Given the description of an element on the screen output the (x, y) to click on. 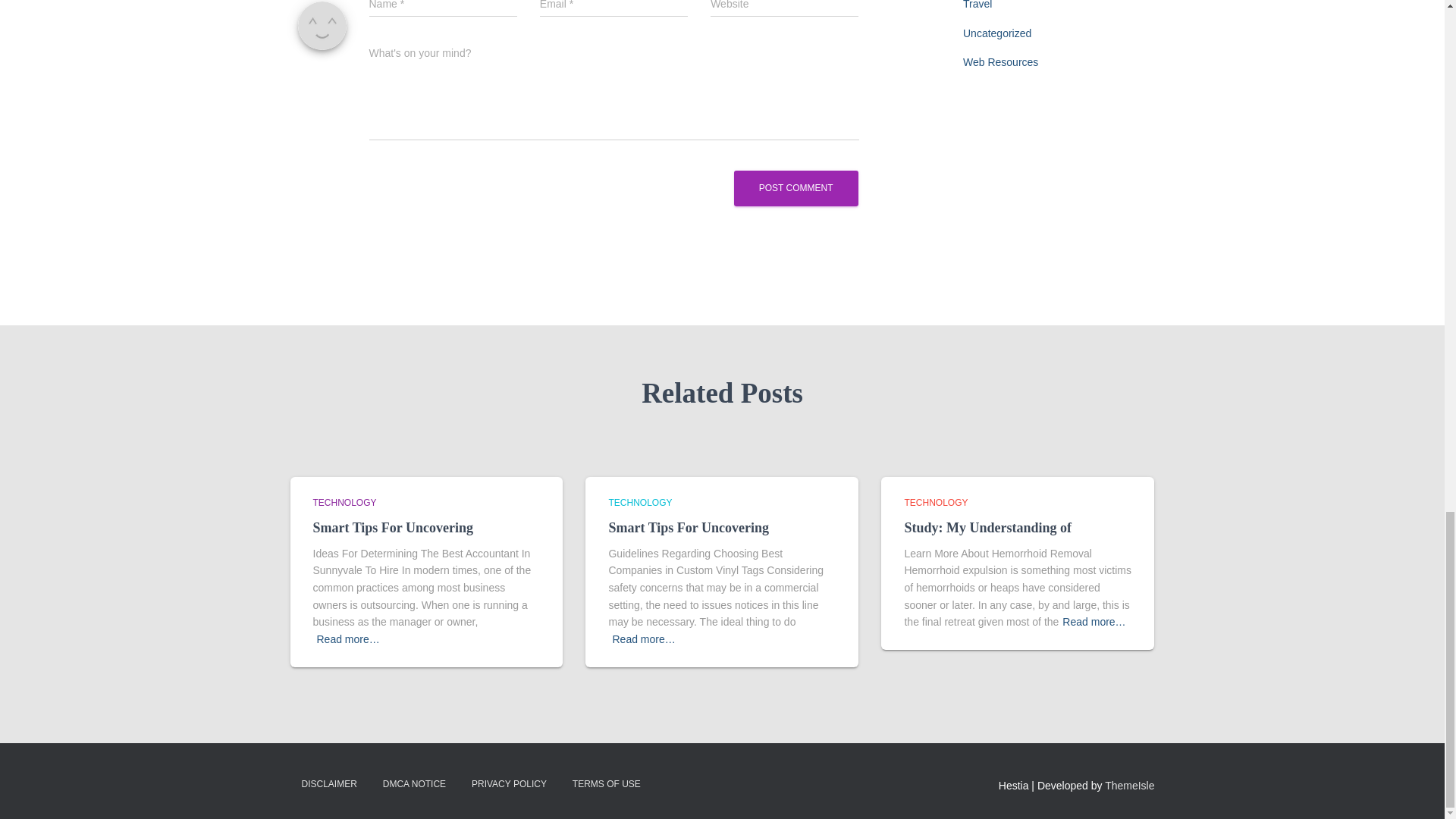
View all posts in Technology (936, 502)
Study: My Understanding of (987, 527)
Smart Tips For Uncovering (688, 527)
Smart Tips For Uncovering (393, 527)
View all posts in Technology (344, 502)
Post Comment (796, 188)
Post Comment (796, 188)
View all posts in Technology (639, 502)
